Given the description of an element on the screen output the (x, y) to click on. 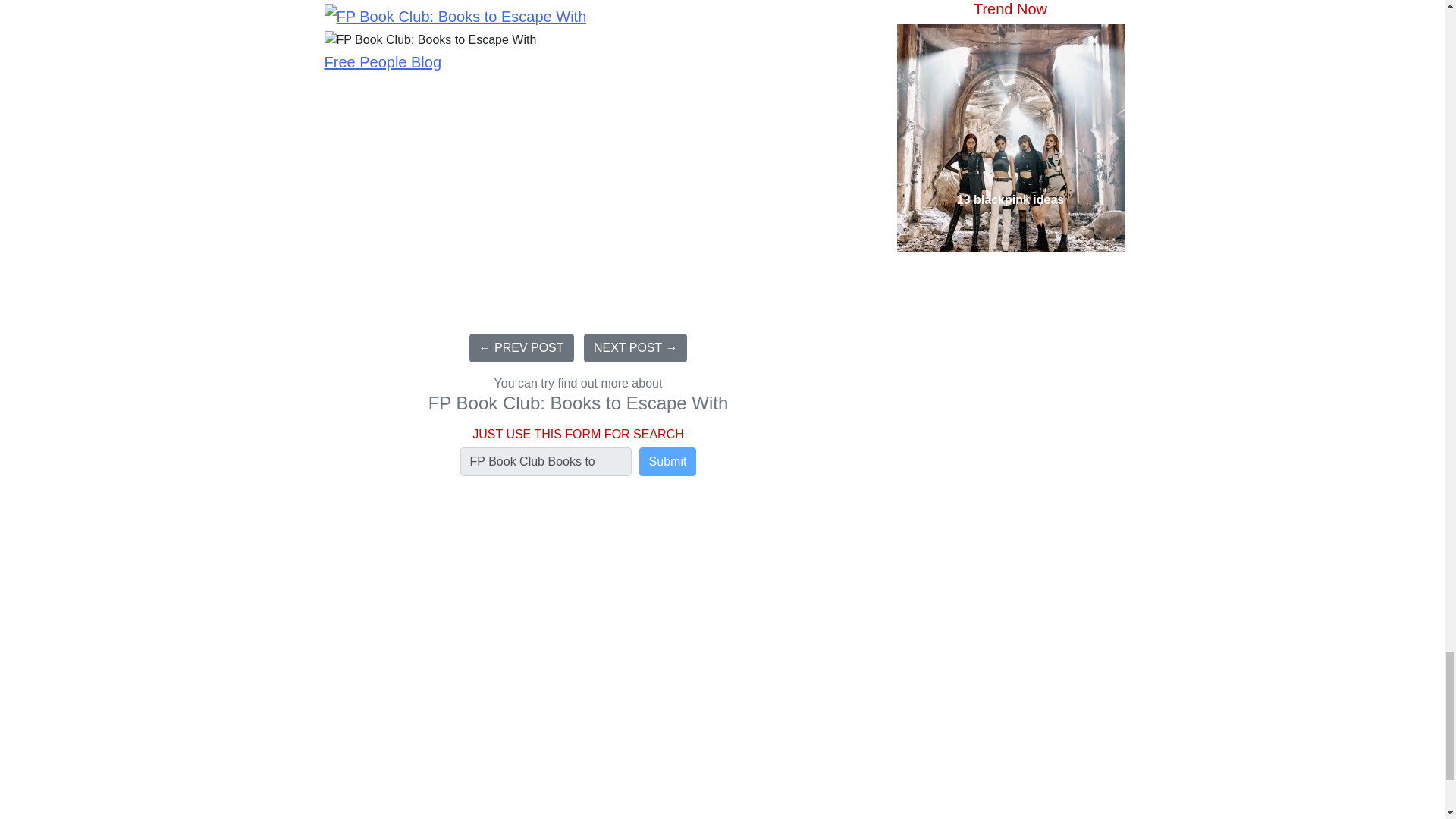
Submit (668, 461)
FP Book Club: Books to Escape With (455, 17)
FP Book Club Books to (545, 461)
FP Book Club: Books to Escape With (430, 40)
Free People Blog (383, 62)
